Given the description of an element on the screen output the (x, y) to click on. 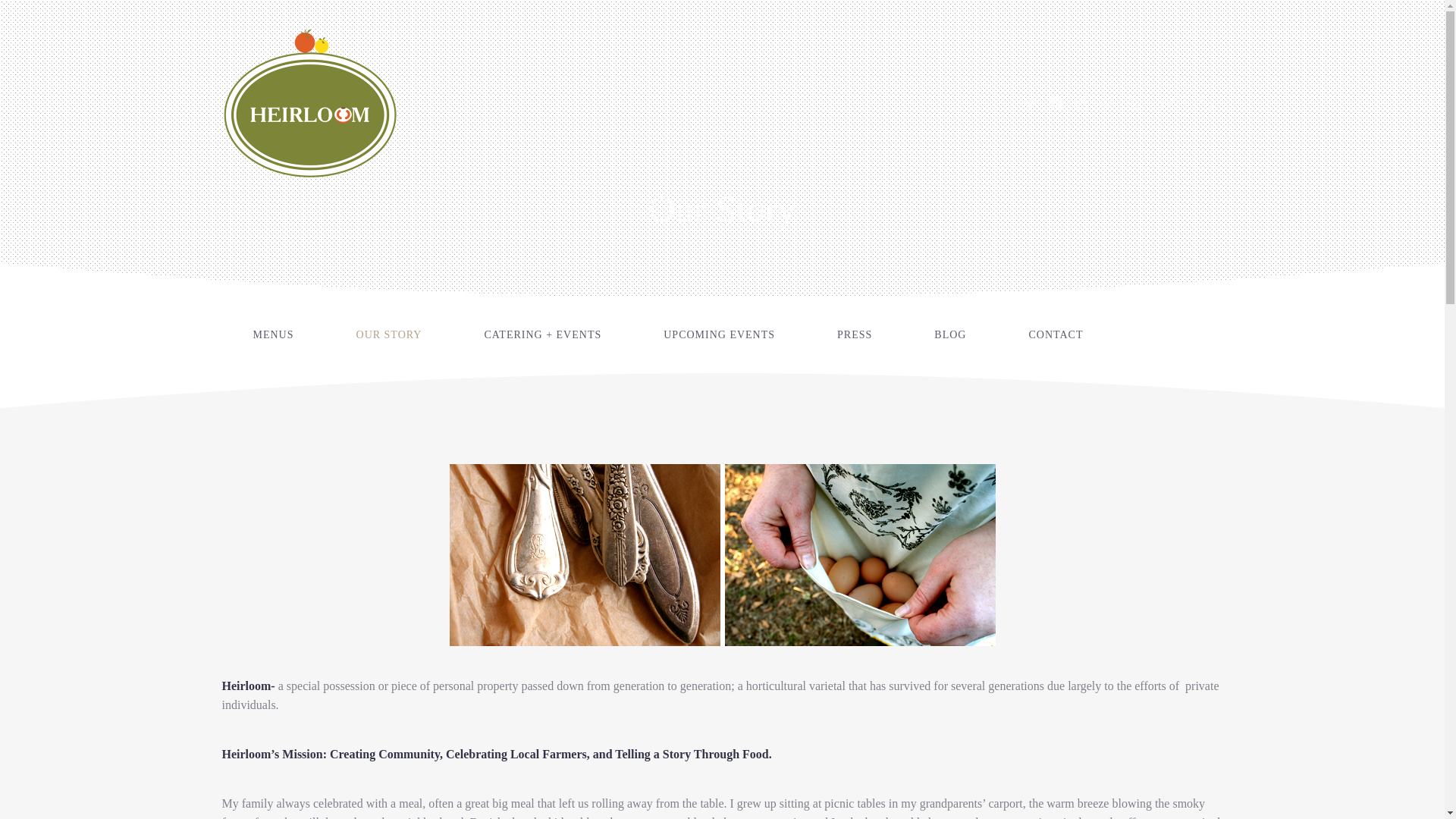
Instagram (1082, 102)
TripAdvisor (1107, 102)
Twitter (1029, 102)
UPCOMING EVENTS (719, 335)
BLOG (949, 335)
Facebook (1055, 102)
OUR STORY (389, 335)
MENUS (273, 335)
PRESS (854, 335)
706-354-7901 (1206, 102)
Yelp (1133, 102)
ourstory3 (721, 555)
CONTACT (1055, 335)
